Given the description of an element on the screen output the (x, y) to click on. 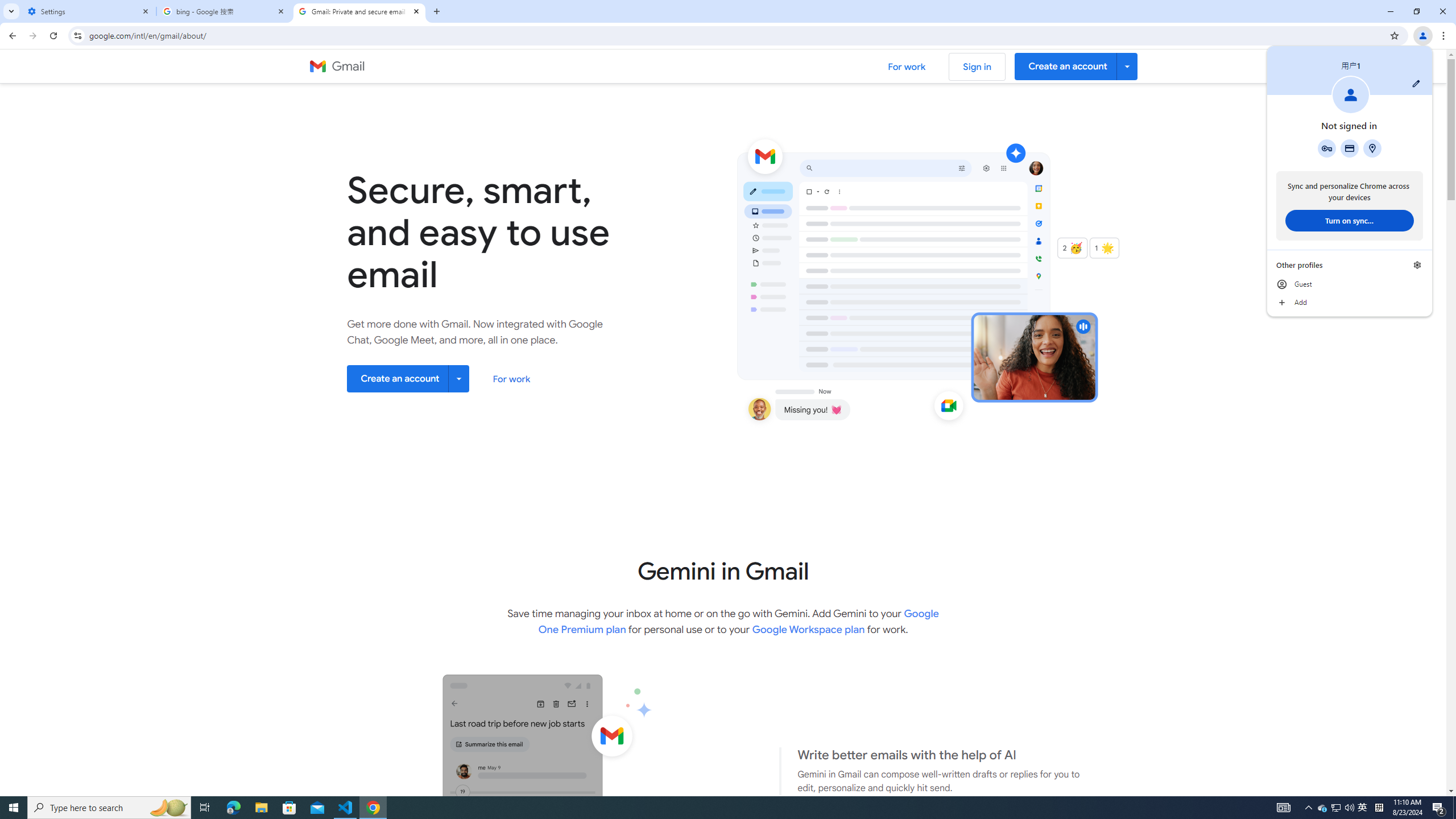
AutomationID: 4105 (1283, 807)
For work (511, 378)
Payment methods (1349, 148)
Search highlights icon opens search home window (167, 807)
User Promoted Notification Area (1336, 807)
Settings (88, 11)
Google Password Manager (1335, 807)
